Given the description of an element on the screen output the (x, y) to click on. 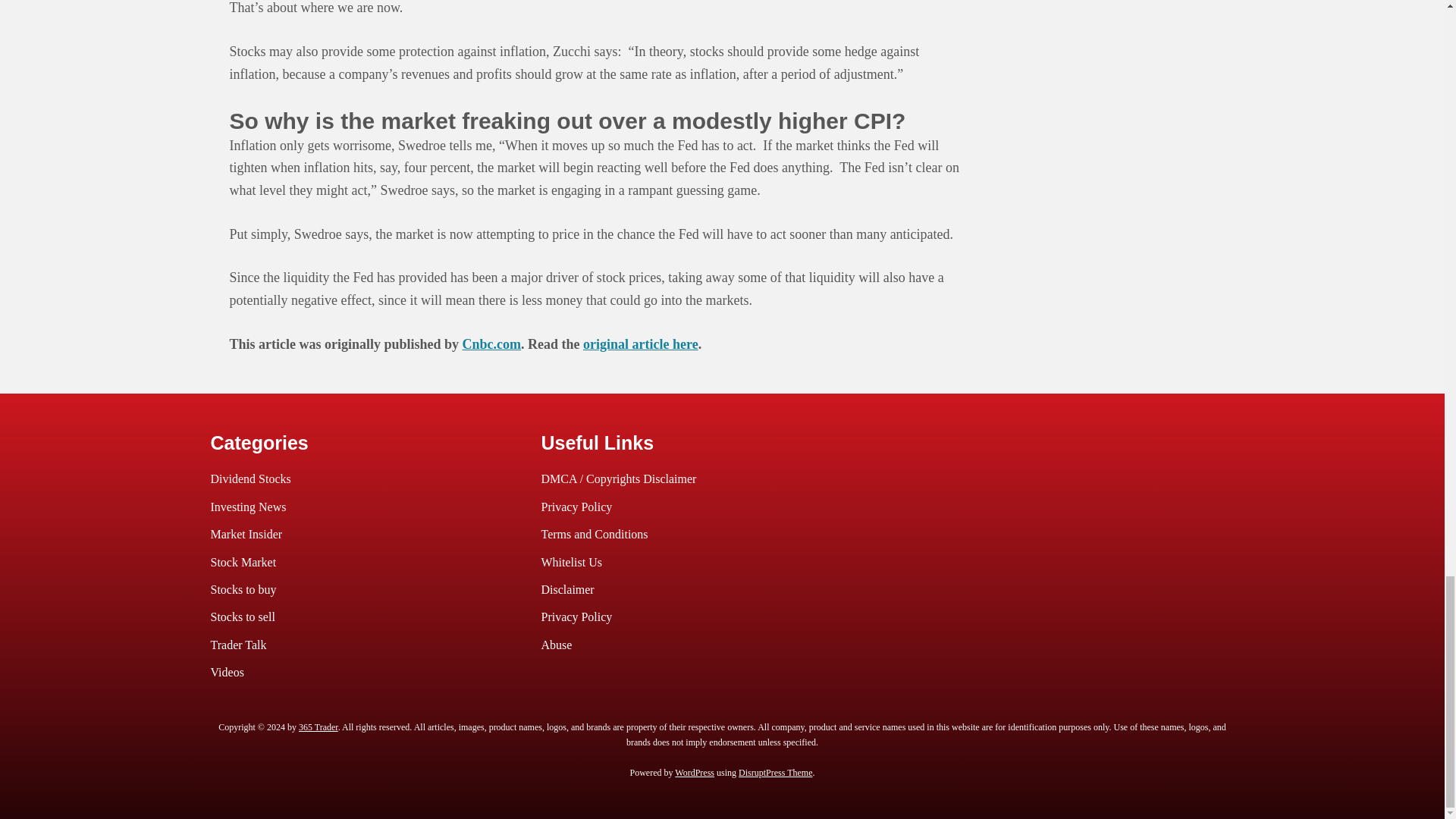
original article here (640, 344)
Cnbc.com (492, 344)
